Given the description of an element on the screen output the (x, y) to click on. 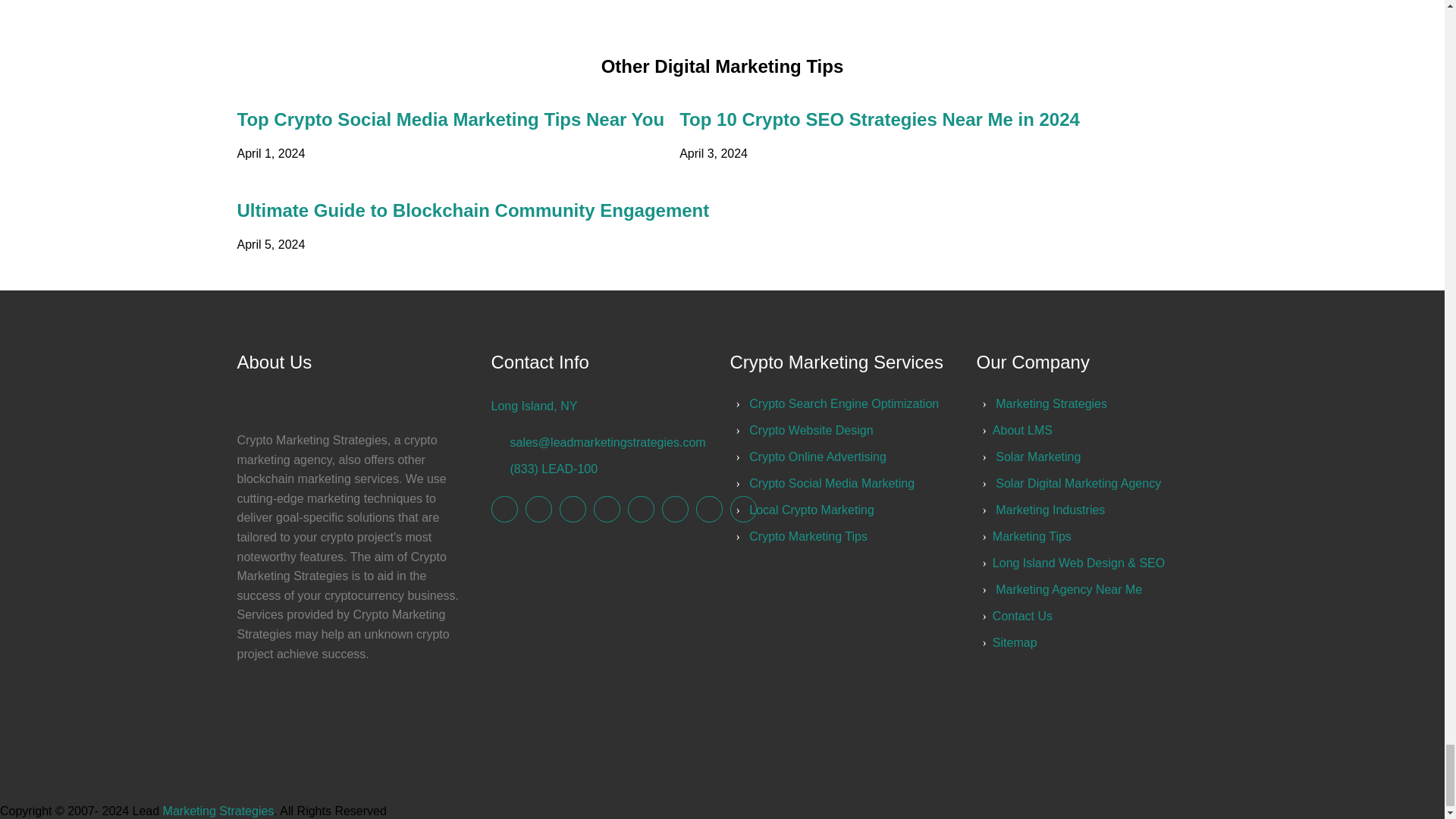
Lead Marketing Strategies (742, 509)
PPC Advertising (810, 430)
Crypto Marketing Tips (808, 535)
Lead Marketing Strategies (505, 509)
Lead Marketing Strategies (537, 509)
Search Engine Optimization (844, 403)
Lead Marketing Strategies (572, 509)
About LMS (1022, 430)
Lead Marketing Strategies (1050, 403)
Reputation Management (817, 456)
